Given the description of an element on the screen output the (x, y) to click on. 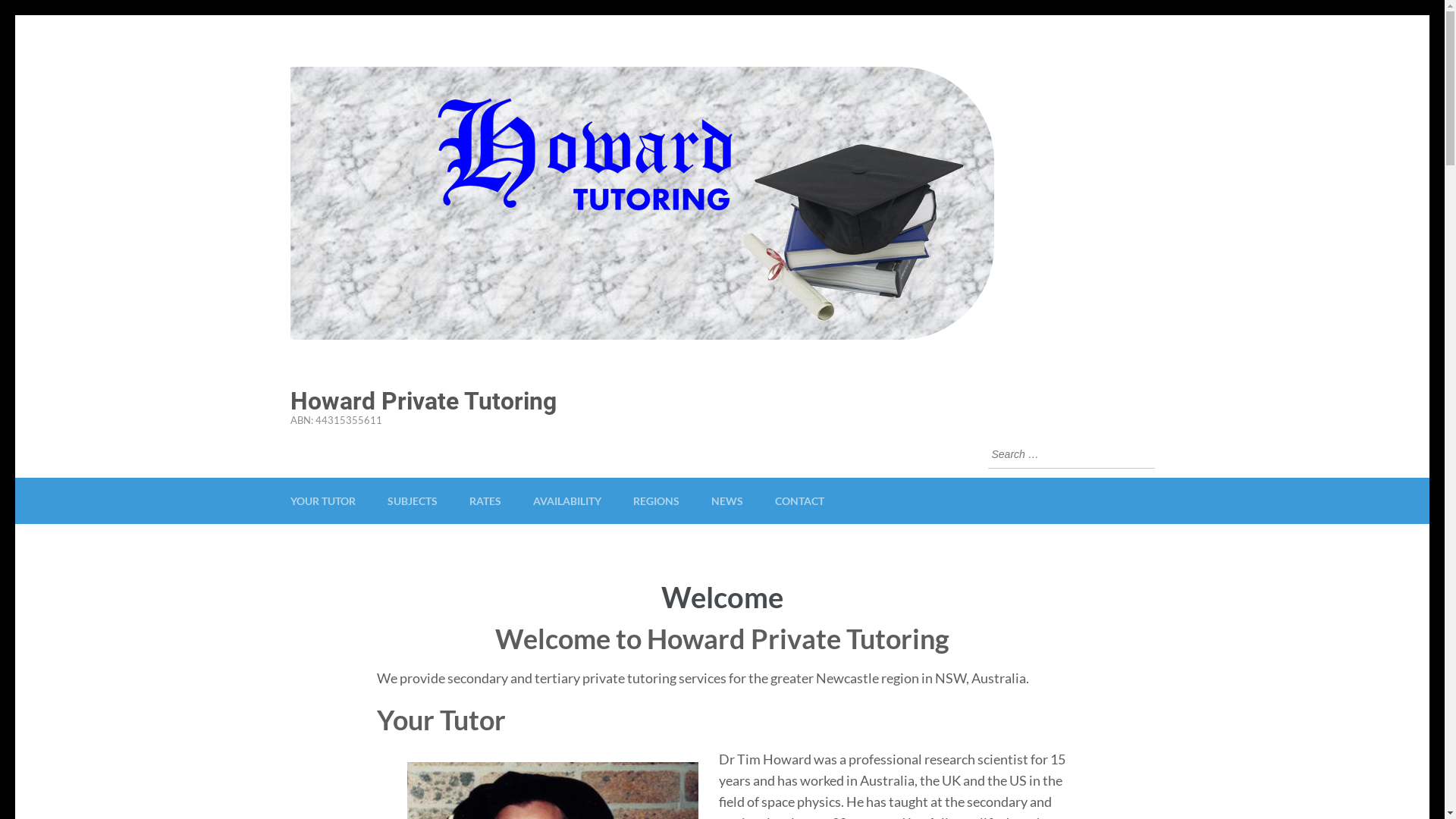
Howard Private Tutoring Element type: text (422, 400)
AVAILABILITY Element type: text (566, 500)
RATES Element type: text (484, 500)
Search Element type: text (1142, 454)
SUBJECTS Element type: text (411, 500)
YOUR TUTOR Element type: text (321, 500)
CONTACT Element type: text (799, 500)
NEWS Element type: text (727, 500)
REGIONS Element type: text (655, 500)
